Given the description of an element on the screen output the (x, y) to click on. 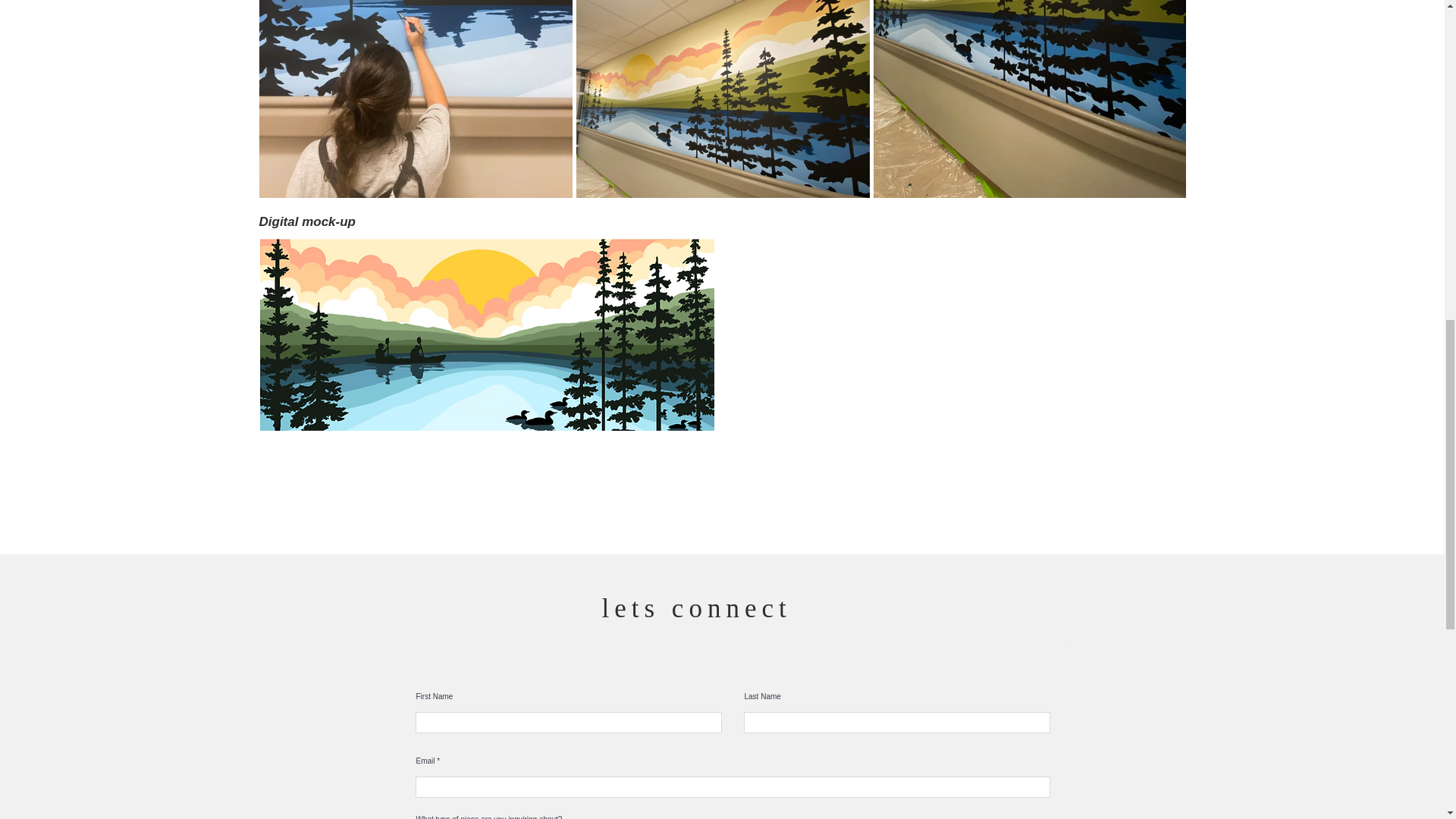
lets connect (697, 607)
